Given the description of an element on the screen output the (x, y) to click on. 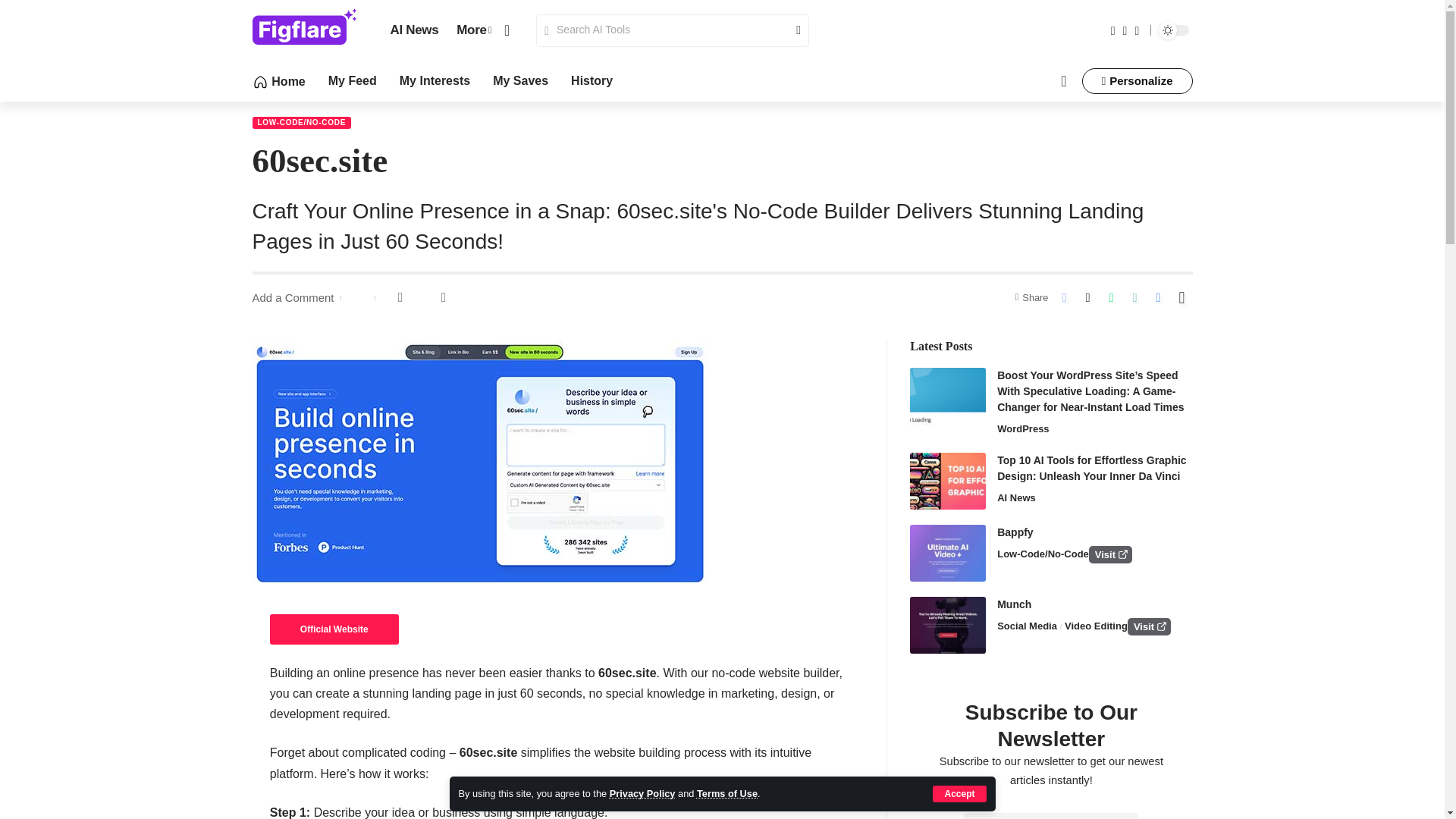
Personalize (1136, 80)
My Saves (520, 80)
My Interests (434, 80)
Accept (959, 793)
Home (277, 80)
Search (792, 30)
Bappfy (947, 552)
Privacy Policy (642, 793)
My Feed (353, 80)
